Given the description of an element on the screen output the (x, y) to click on. 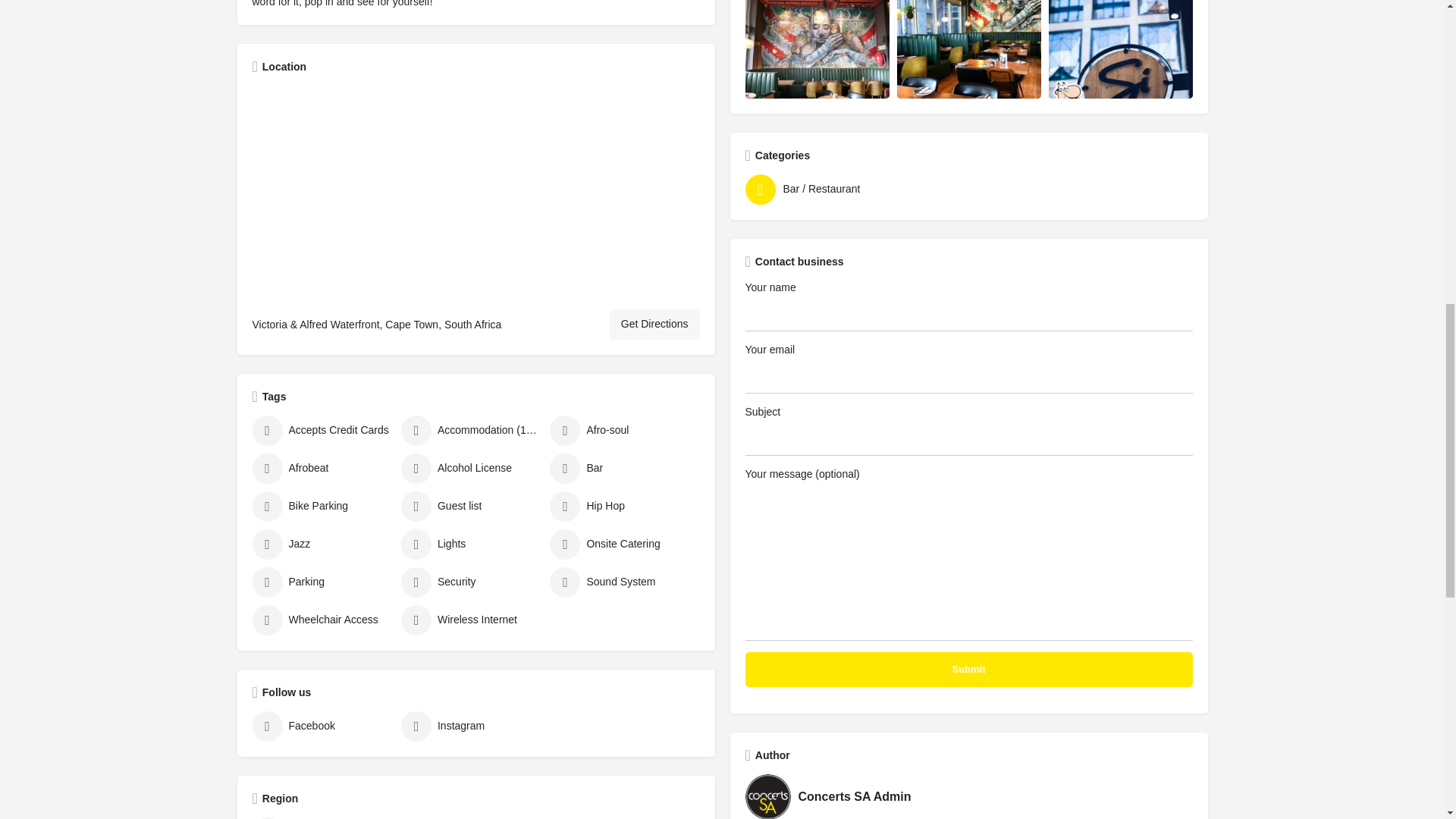
Bar (620, 468)
Afro-soul (620, 430)
Get Directions (655, 324)
Bike Parking (322, 506)
Accepts Credit Cards (322, 430)
Submit (968, 669)
Guest list (471, 506)
Alcohol License (471, 468)
Afrobeat (322, 468)
